Given the description of an element on the screen output the (x, y) to click on. 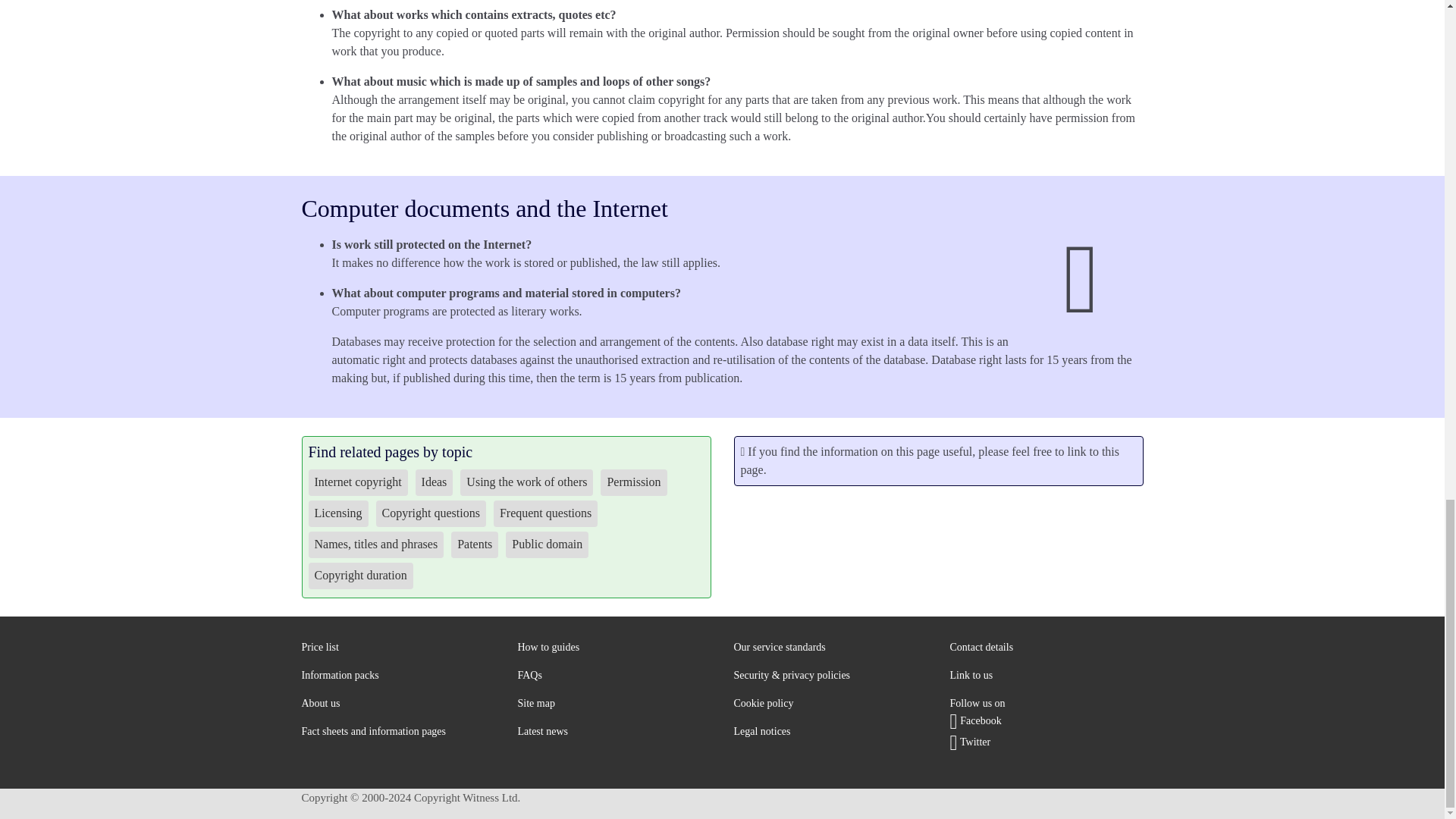
Security and privacy policies (791, 674)
Our contact details (981, 646)
Linking suggestions for webmasters (970, 674)
About us (320, 703)
Cookie policy (763, 703)
Legal notices (761, 731)
Fact sheets and information pages (373, 731)
Frequent questions (528, 674)
Our service standards (779, 646)
How to guides (547, 646)
